Given the description of an element on the screen output the (x, y) to click on. 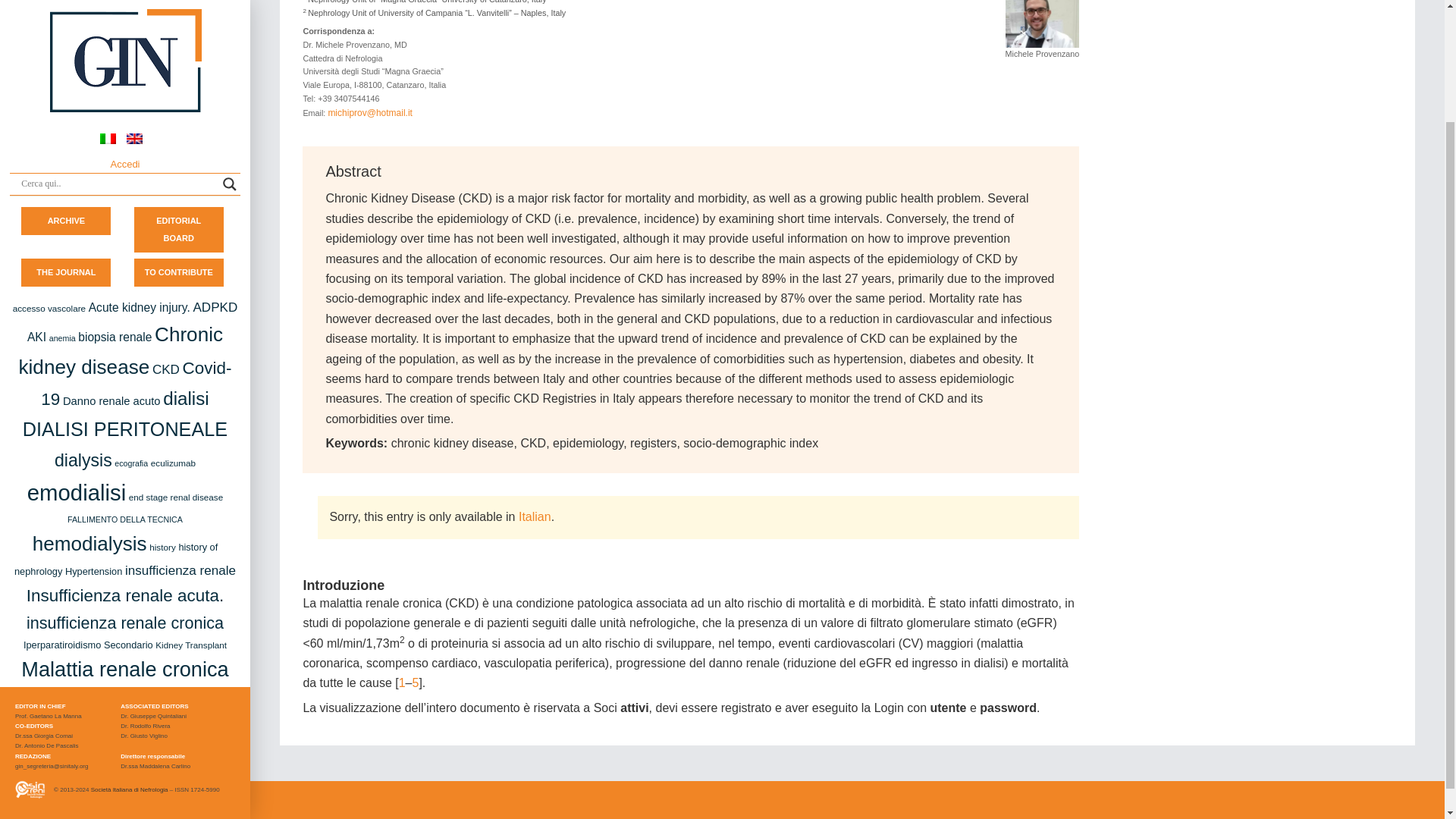
biopsia renale (114, 200)
hemodialysis (89, 406)
Hypertension (93, 434)
Danno renale acuto (111, 264)
ARCHIVE (66, 84)
THE JOURNAL (65, 136)
CKD (165, 233)
DIALISI PERITONEALE (125, 292)
history of nephrology (115, 422)
eculizumab (173, 326)
EDITORIAL BOARD (178, 93)
ecografia (131, 326)
history (162, 410)
Iperparatiroidismo Secondario (87, 508)
Chronic kidney disease (121, 213)
